Given the description of an element on the screen output the (x, y) to click on. 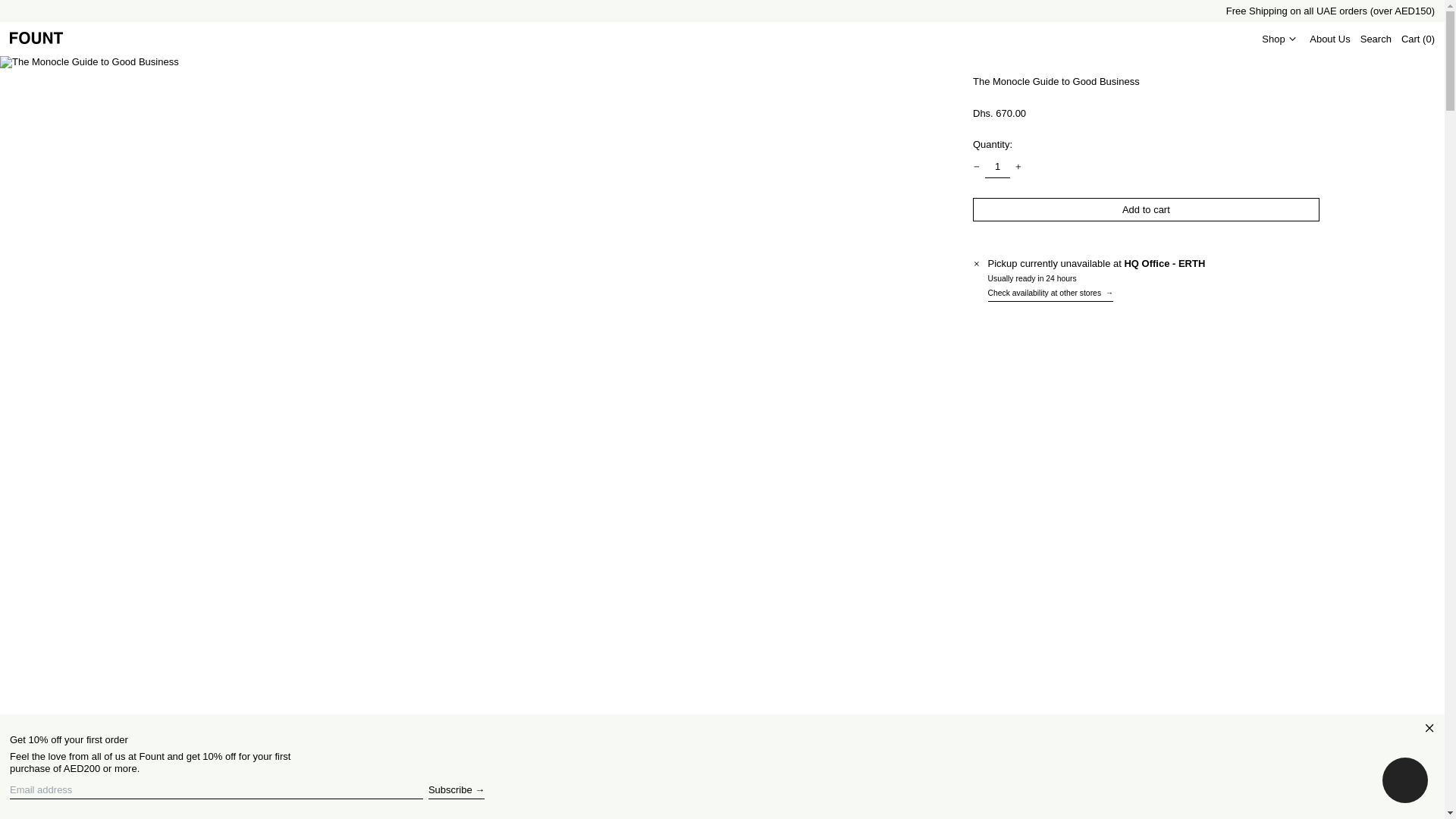
1 (997, 166)
Search (1375, 38)
Shopify online store chat (1404, 781)
Shop (1281, 38)
About Us (1328, 38)
